Given the description of an element on the screen output the (x, y) to click on. 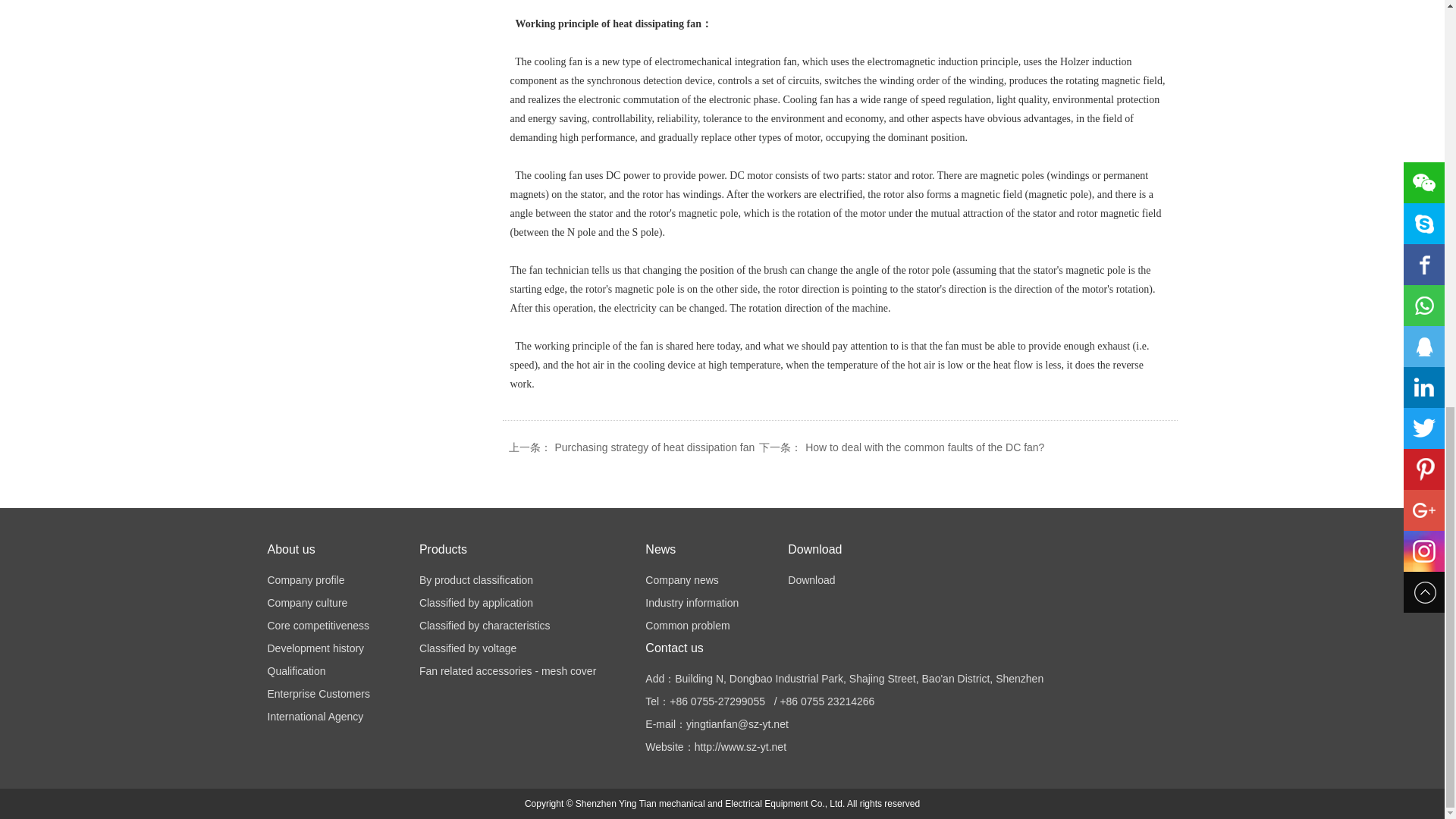
Company culture (306, 603)
Purchasing strategy of heat dissipation fan (655, 447)
Core competitiveness (317, 625)
Purchasing strategy of heat dissipation fan (655, 447)
How to deal with the common faults of the DC fan? (924, 447)
Company profile (304, 580)
How to deal with the common faults of the DC fan? (924, 447)
